Given the description of an element on the screen output the (x, y) to click on. 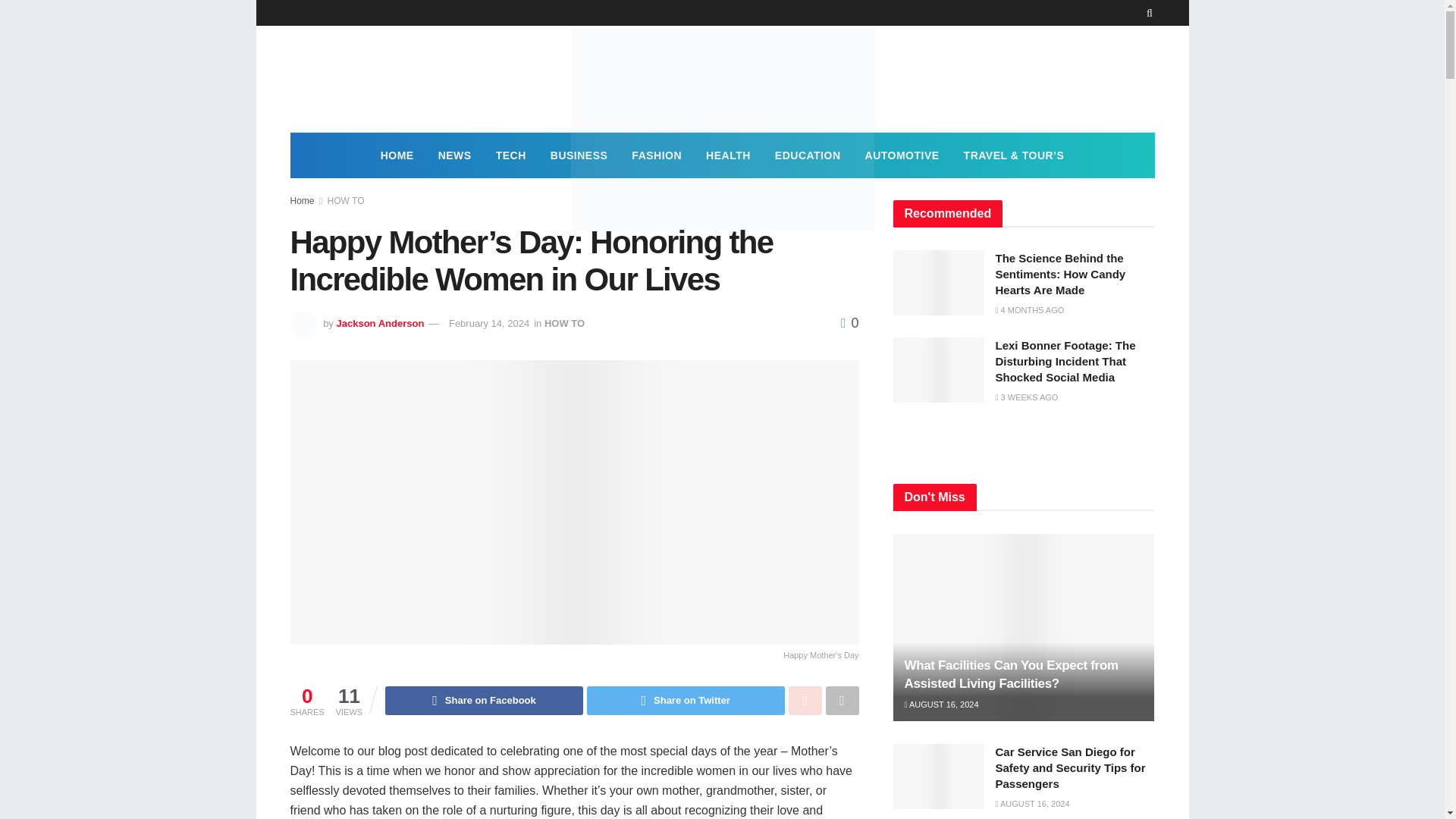
EDUCATION (807, 155)
HOW TO (346, 200)
AUTOMOTIVE (902, 155)
February 14, 2024 (488, 323)
Share on Twitter (685, 700)
BUSINESS (579, 155)
Jackson Anderson (379, 323)
0 (850, 322)
Share on Facebook (484, 700)
Home (301, 200)
